Given the description of an element on the screen output the (x, y) to click on. 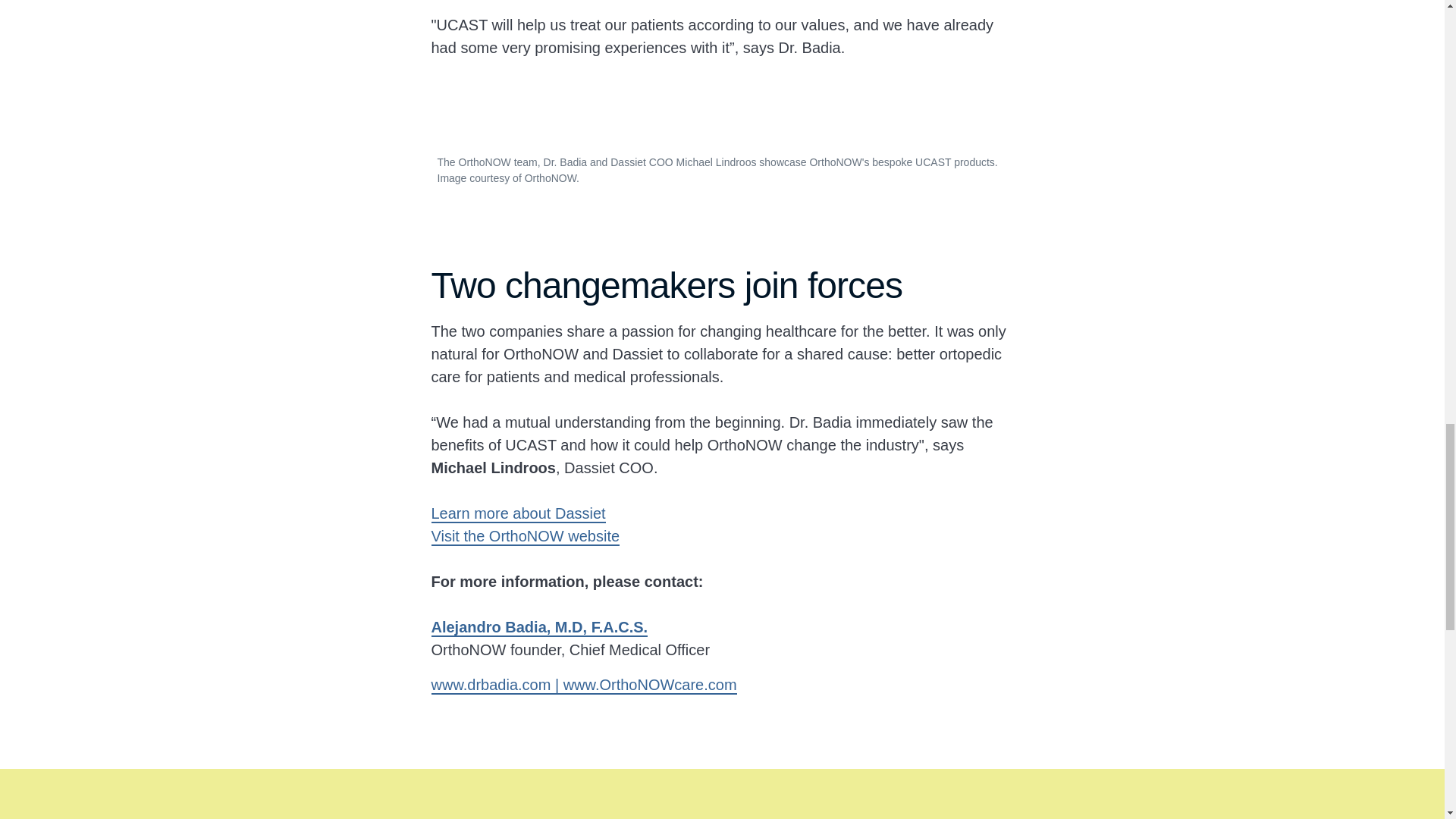
Alejandro Badia, M.D, F.A.C.S. (538, 627)
Visit the OrthoNOW website (525, 535)
Learn more about Dassiet (517, 513)
